Given the description of an element on the screen output the (x, y) to click on. 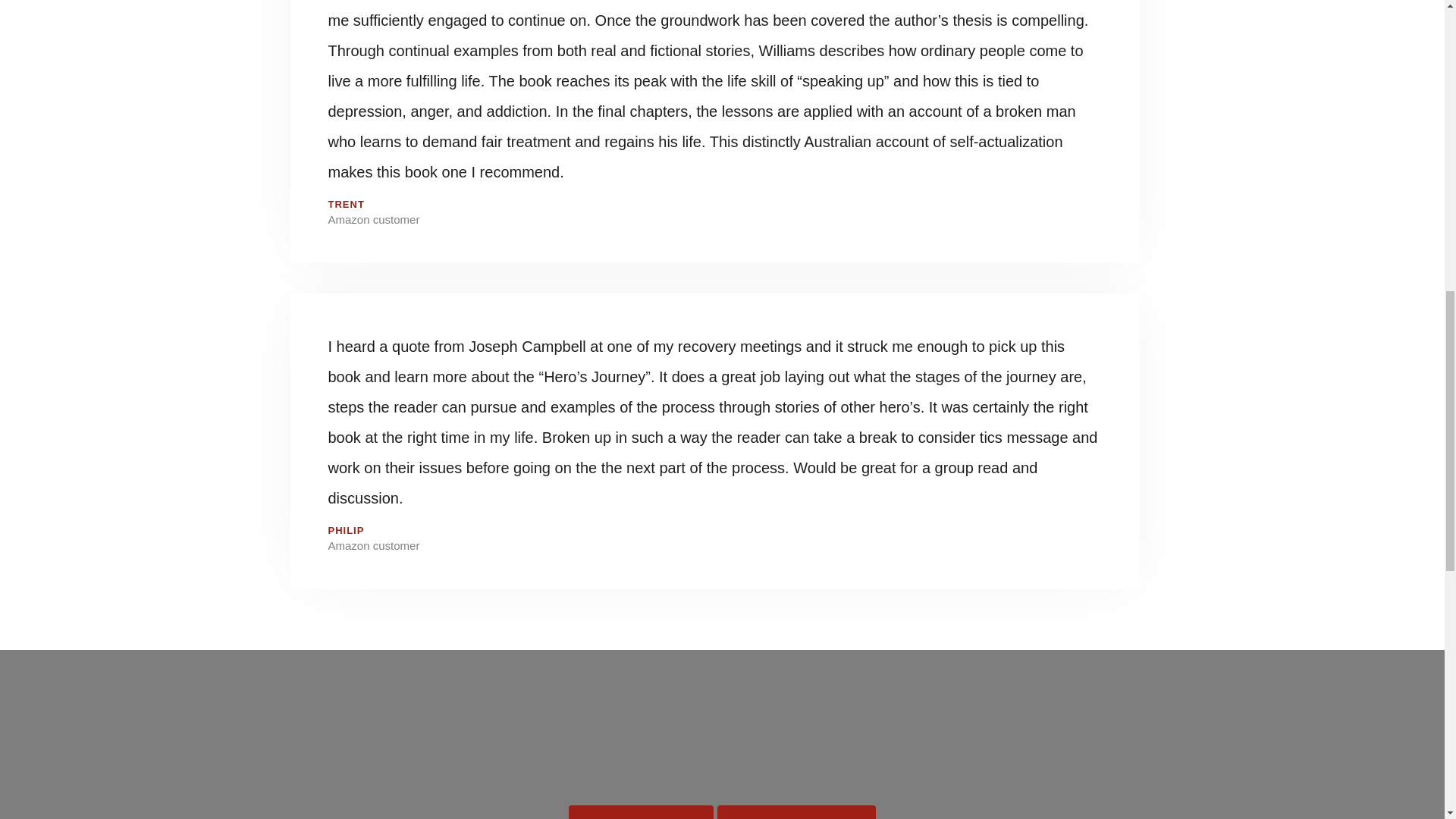
LEARN MORE (796, 812)
READ HERE (641, 812)
